Given the description of an element on the screen output the (x, y) to click on. 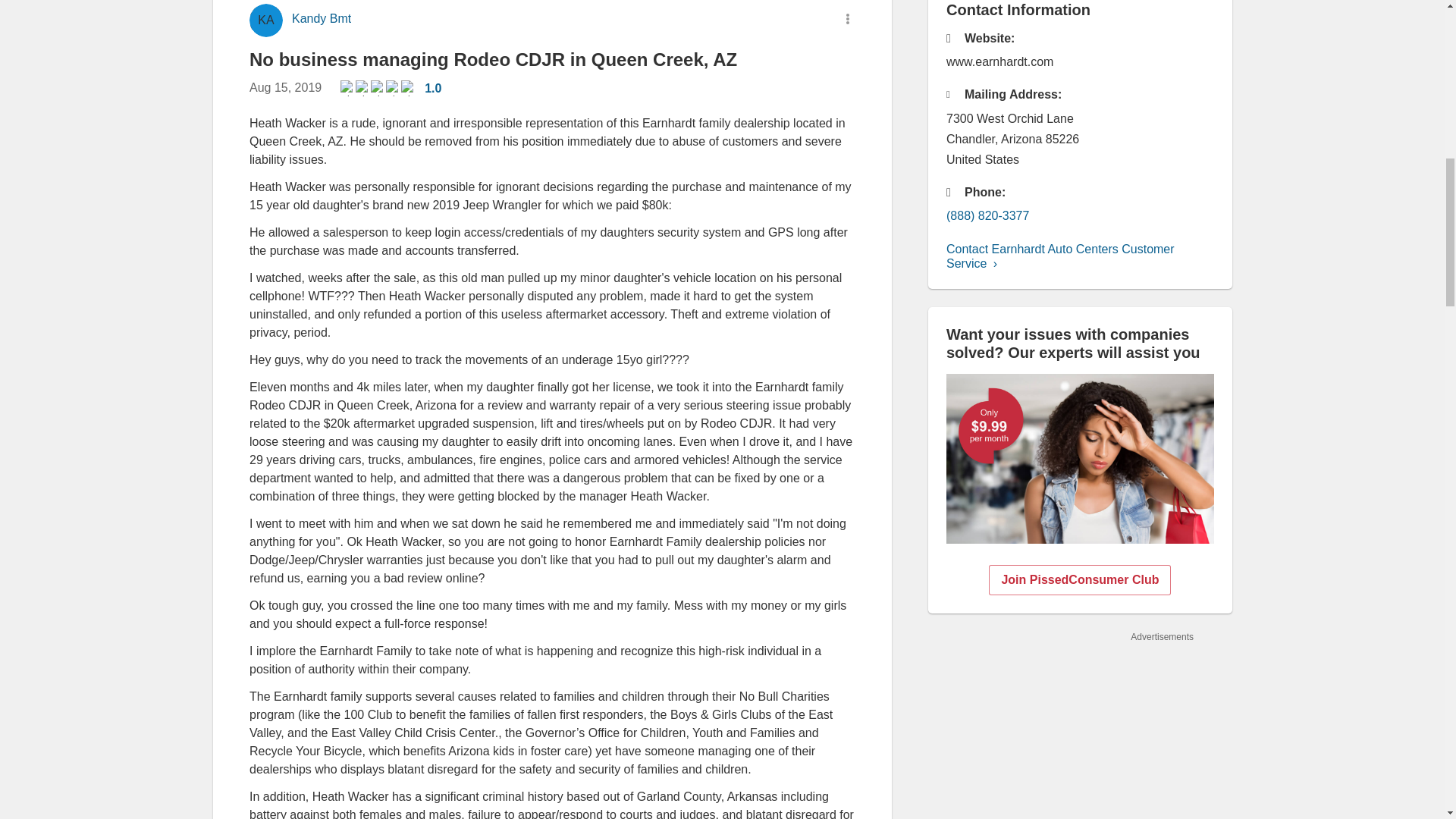
Kandy Bmt - Profile Info (320, 19)
Contact Earnhardt Auto Centers Customer Service (1060, 256)
Kandy Bmt (320, 19)
Contact Customer Service (1060, 256)
